Given the description of an element on the screen output the (x, y) to click on. 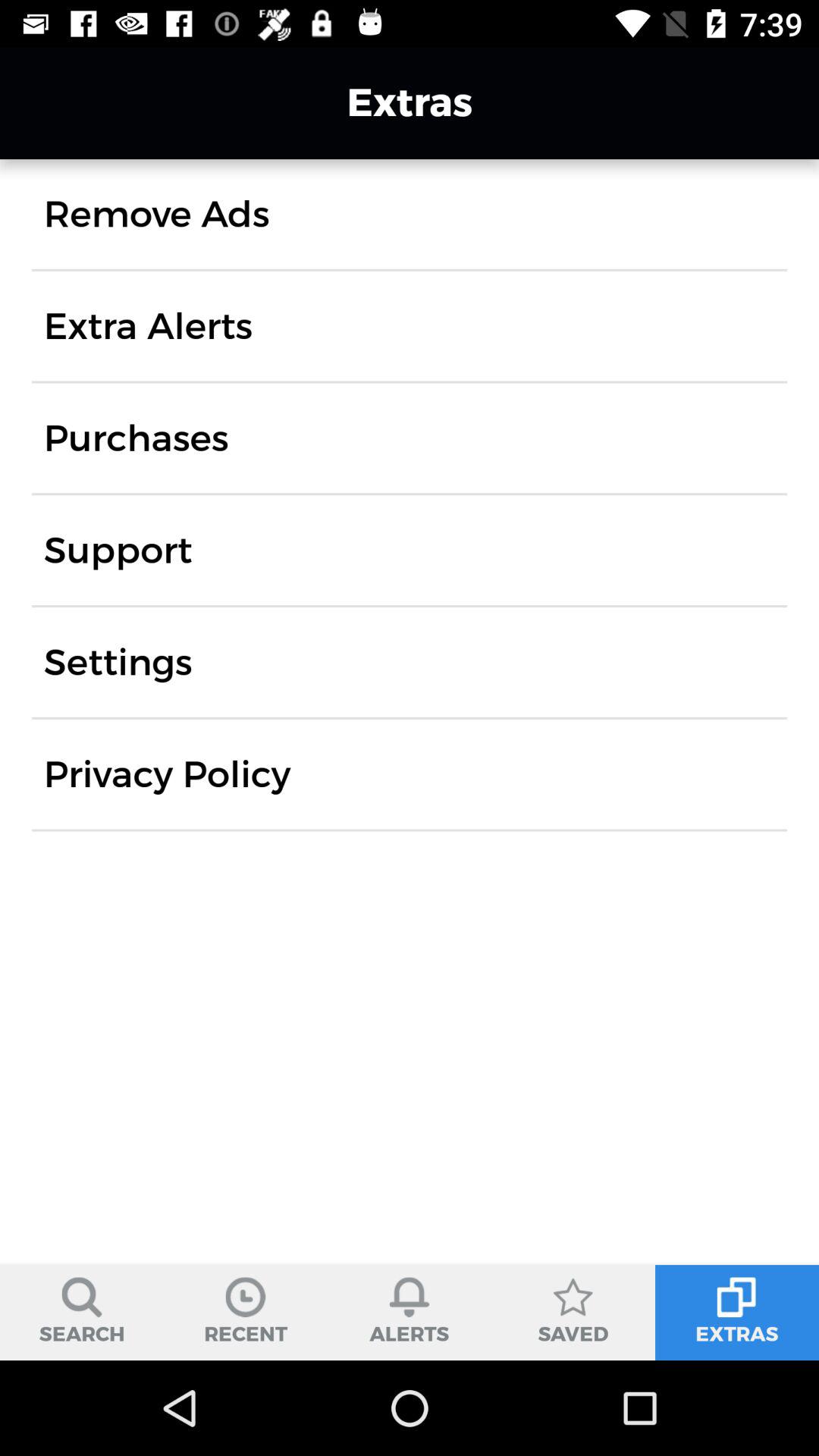
turn off the purchases item (135, 438)
